Given the description of an element on the screen output the (x, y) to click on. 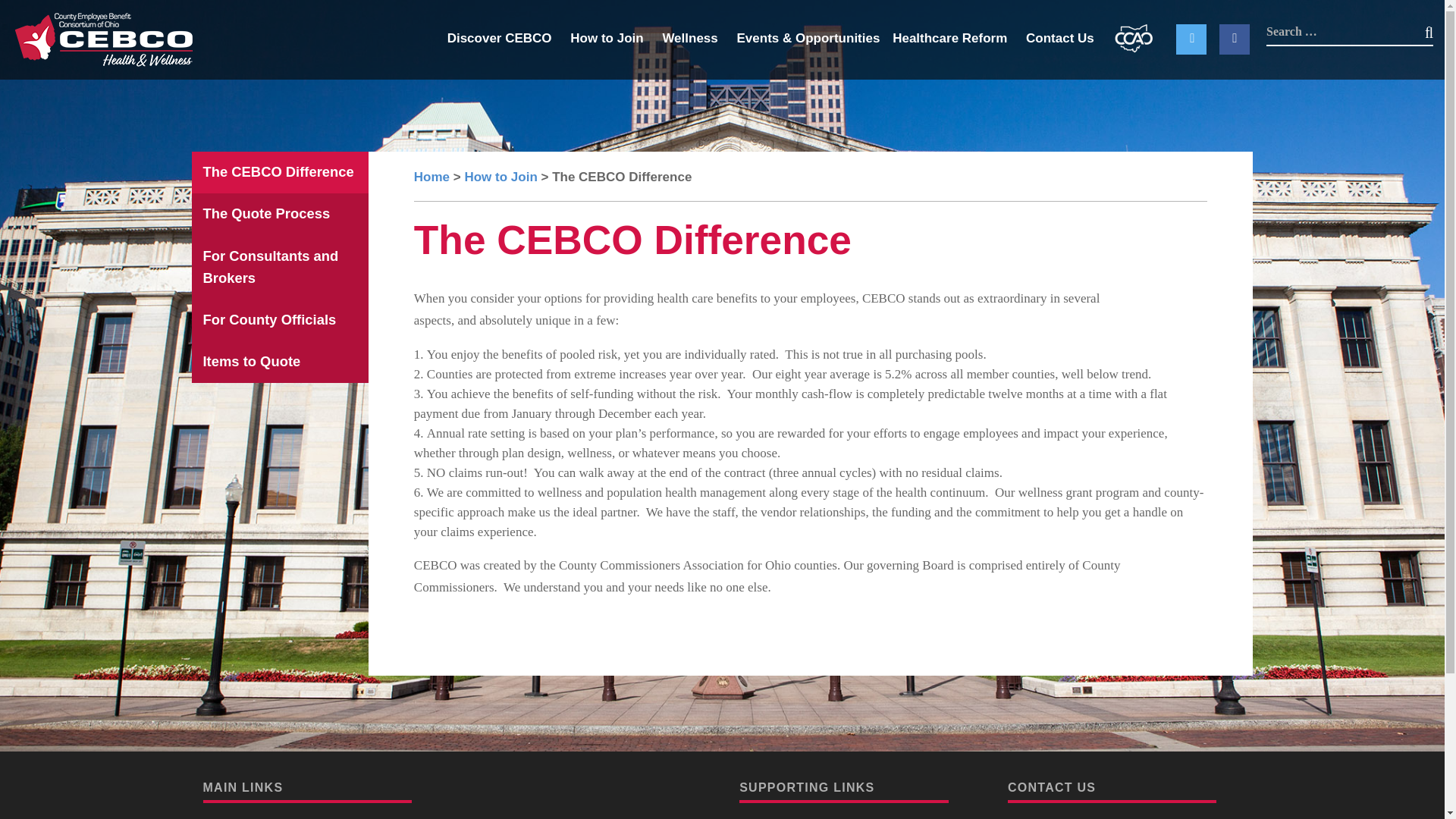
Discover CEBCO (506, 40)
Search for: (1349, 31)
